Given the description of an element on the screen output the (x, y) to click on. 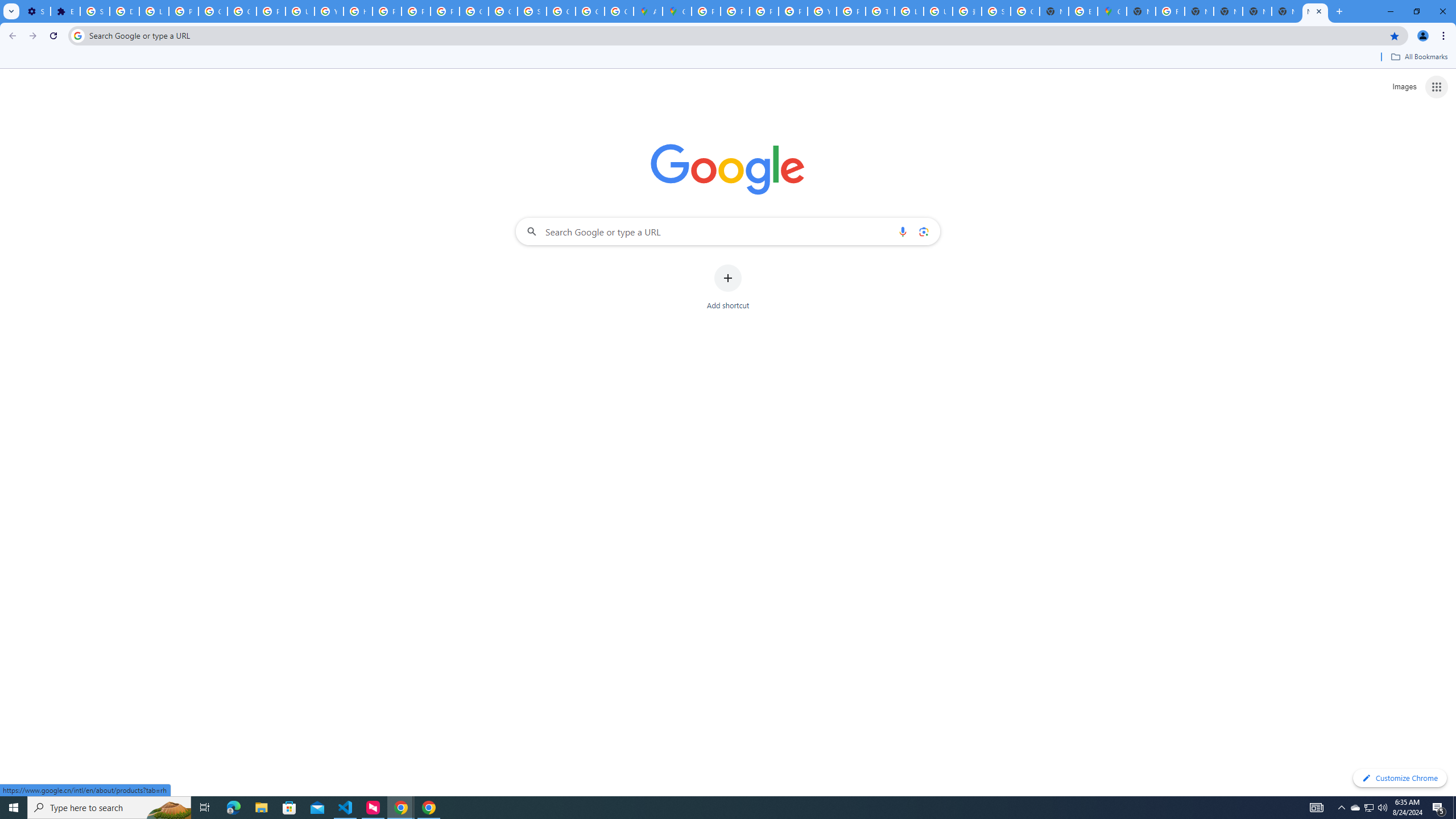
New Tab (1315, 11)
Tips & tricks for Chrome - Google Chrome Help (879, 11)
Sign in - Google Accounts (996, 11)
Explore new street-level details - Google Maps Help (1082, 11)
New Tab (1286, 11)
YouTube (327, 11)
Sign in - Google Accounts (95, 11)
Bookmarks (728, 58)
